Given the description of an element on the screen output the (x, y) to click on. 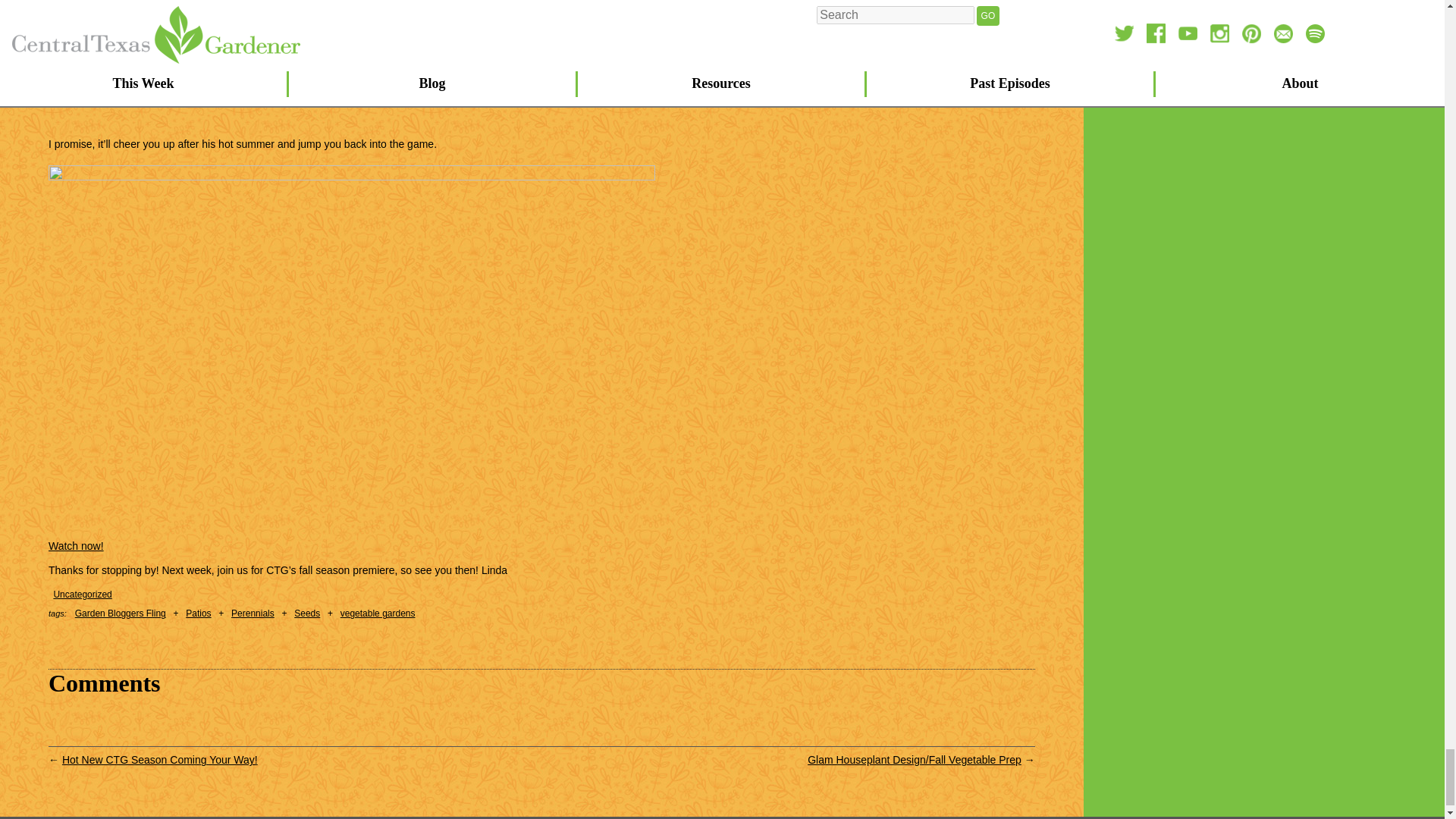
Hot New CTG Season Coming Your Way! (159, 759)
Seeds (307, 613)
Uncategorized (82, 593)
vegetable gardens (377, 613)
Perennials (253, 613)
Garden Bloggers Fling (120, 613)
Watch now! (75, 545)
Patios (198, 613)
